Given the description of an element on the screen output the (x, y) to click on. 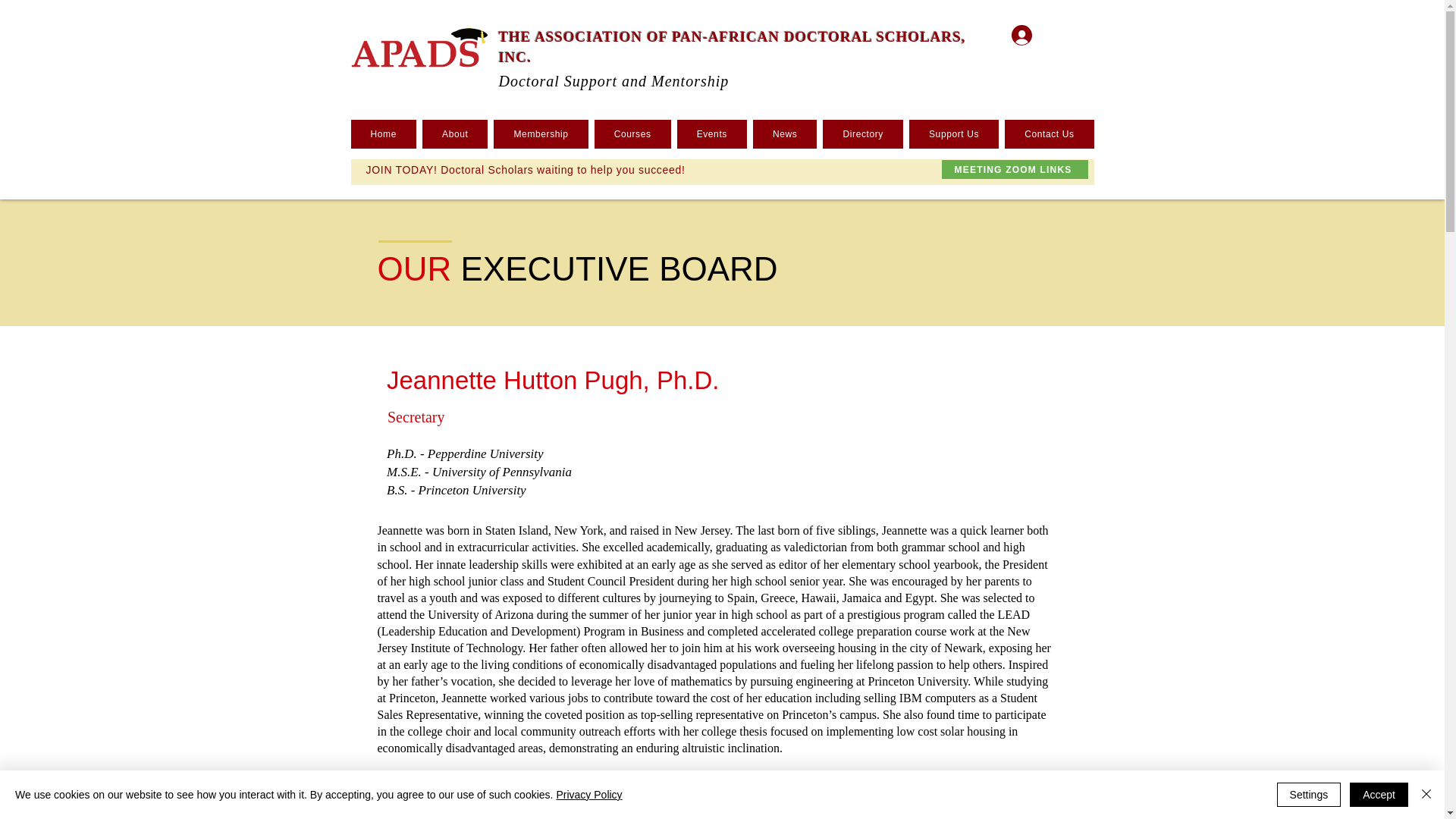
Privacy Policy (588, 794)
Events (711, 133)
About (454, 133)
Log In (1044, 34)
MEETING ZOOM LINKS (1014, 169)
Home (383, 133)
Accept (1378, 794)
Settings (1308, 794)
Directory (862, 133)
